Given the description of an element on the screen output the (x, y) to click on. 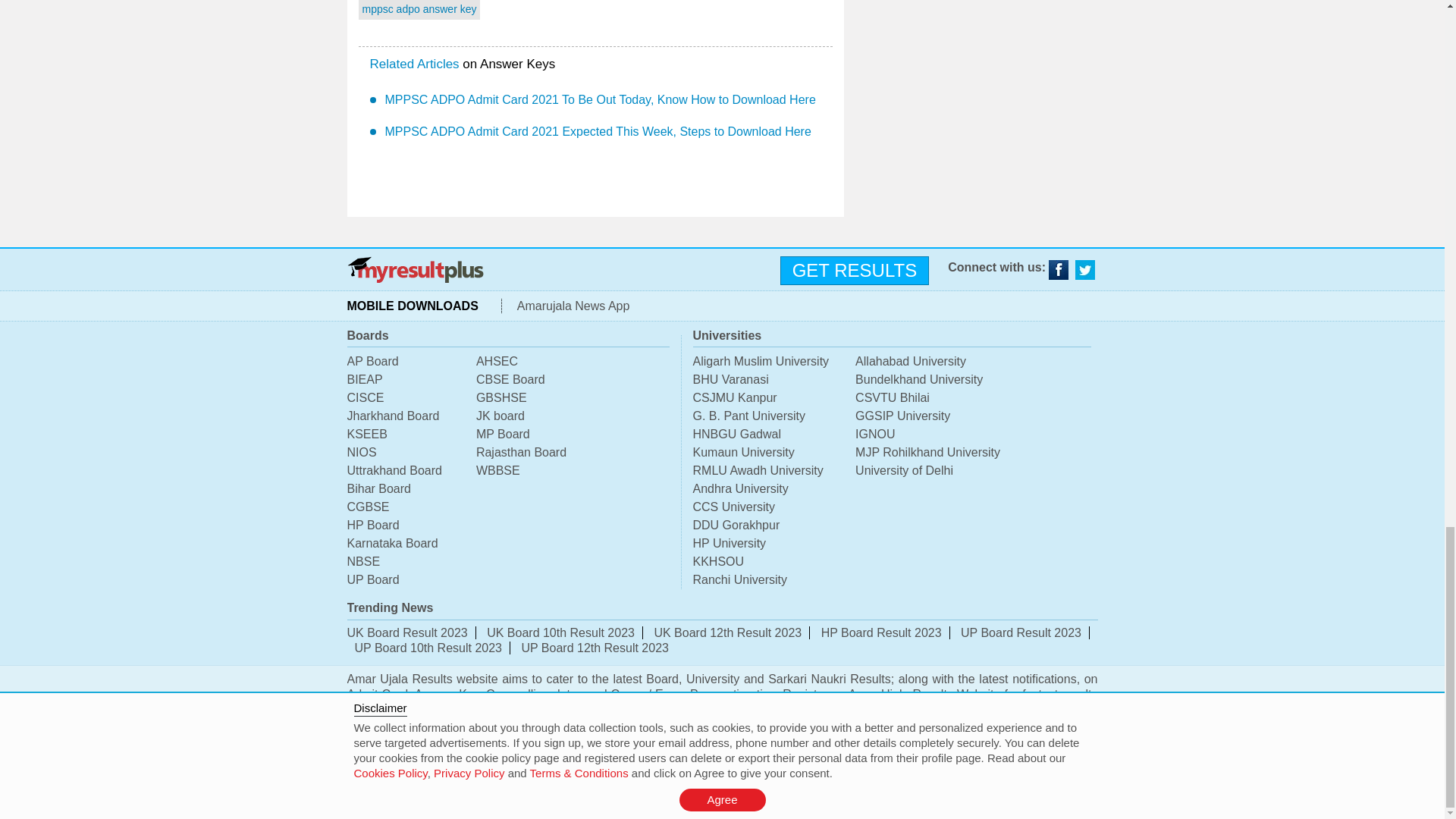
mppsc adpo answer key (419, 9)
HP Board Result 2023 (881, 632)
UP Board 10th Result 2023 (428, 647)
UP Board Result 2023 (1020, 632)
UK Board Result 2023 (407, 632)
UP Board 12th Result 2023 (594, 647)
Delete All Cookies (872, 792)
